Given the description of an element on the screen output the (x, y) to click on. 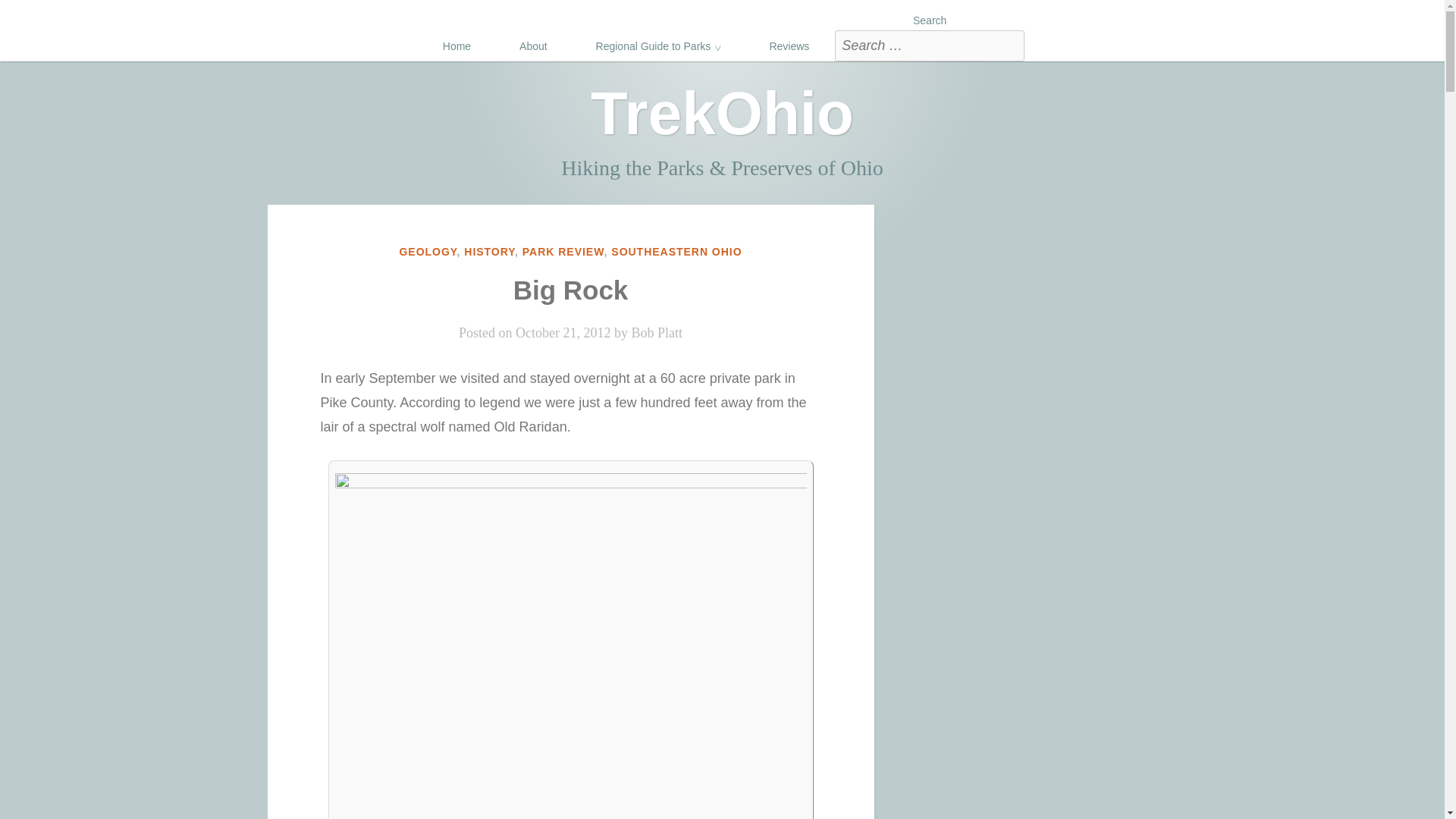
Search (1009, 45)
Search (929, 15)
Search (1009, 45)
About (533, 40)
Home (456, 40)
Regional Guide to Parks (658, 40)
